Given the description of an element on the screen output the (x, y) to click on. 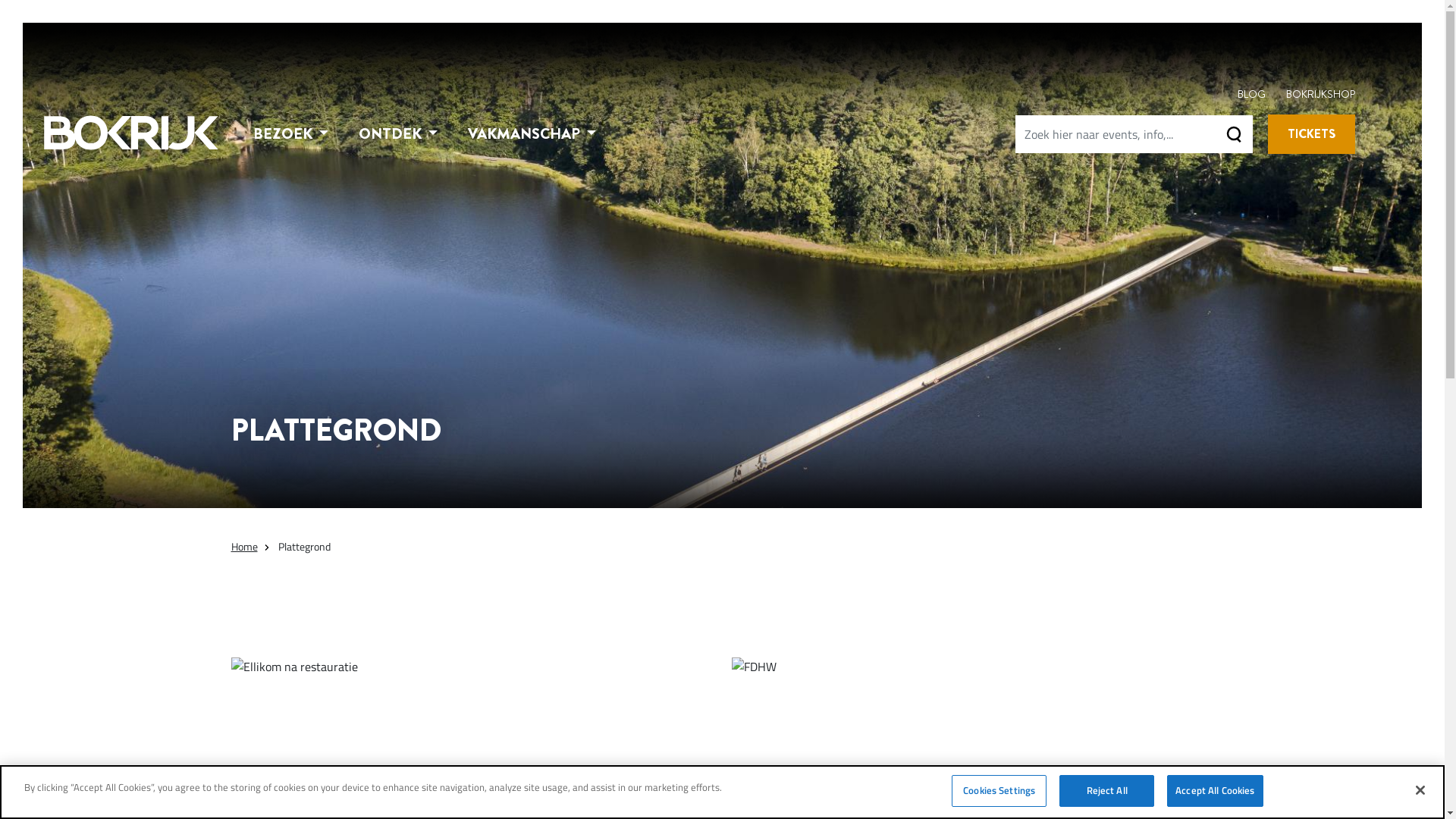
Cookies Settings Element type: text (998, 790)
VAKMANSCHAP Element type: text (531, 133)
Zoeken Element type: text (1233, 134)
BEZOEK Element type: text (290, 133)
Bokrijk homepage Element type: text (130, 132)
BOKRIJKSHOP Element type: text (1320, 93)
TICKETS Element type: text (1311, 133)
Home Element type: text (243, 546)
BLOG Element type: text (1251, 93)
Reject All Element type: text (1106, 790)
Accept All Cookies Element type: text (1214, 790)
ONTDEK Element type: text (397, 133)
